Given the description of an element on the screen output the (x, y) to click on. 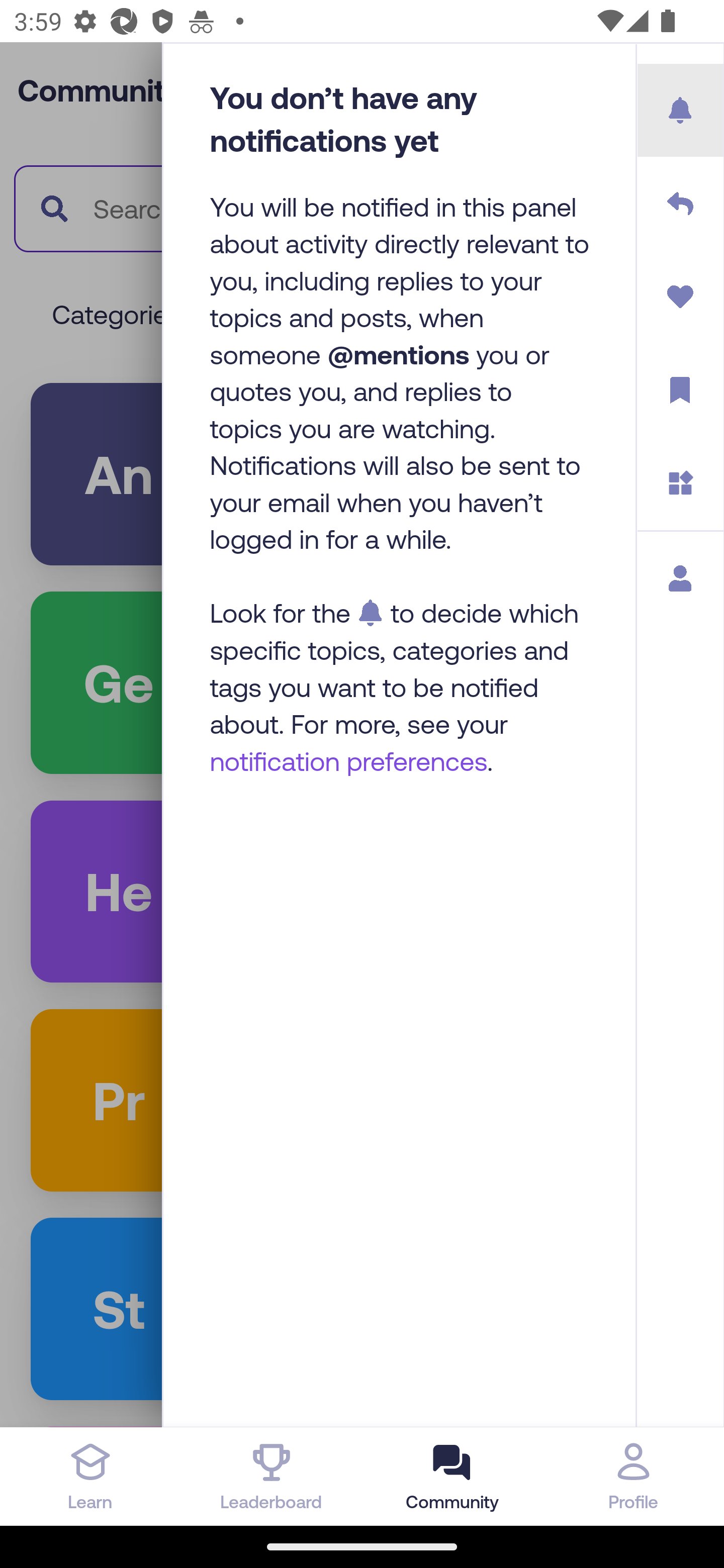
All notifications (680, 110)
Replies (680, 203)
Likes (680, 296)
Bookmarks (680, 390)
Other notifications (680, 483)
Profile (680, 578)
notification preferences (349, 760)
Learn (90, 1475)
Leaderboard (271, 1475)
Profile (633, 1475)
